Given the description of an element on the screen output the (x, y) to click on. 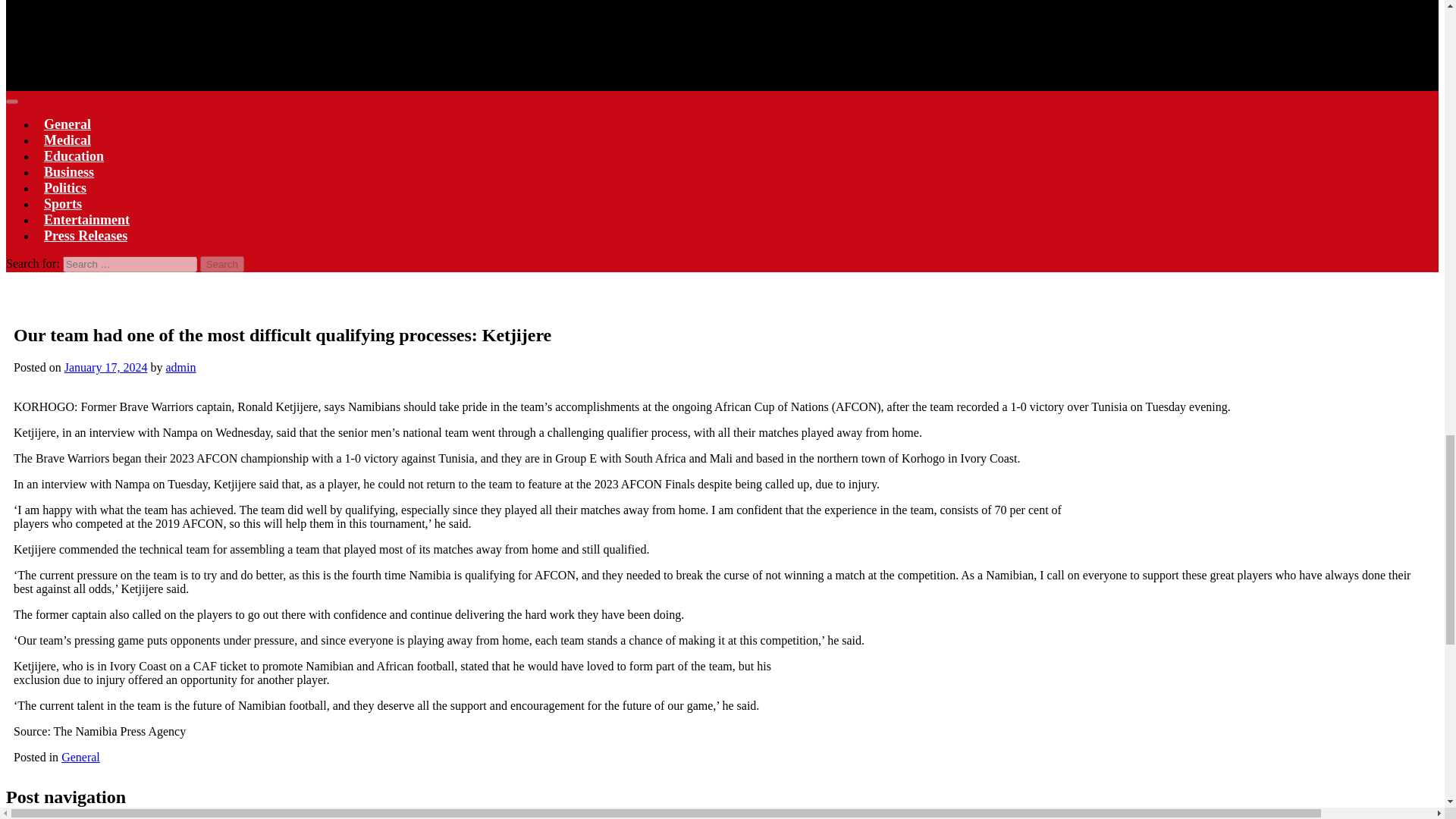
January 17, 2024 (106, 367)
Politics (65, 187)
Search (222, 263)
Sports (62, 204)
Business (68, 172)
Search (222, 263)
Entertainment (86, 219)
Education (74, 155)
Medical (67, 140)
General (67, 123)
